Given the description of an element on the screen output the (x, y) to click on. 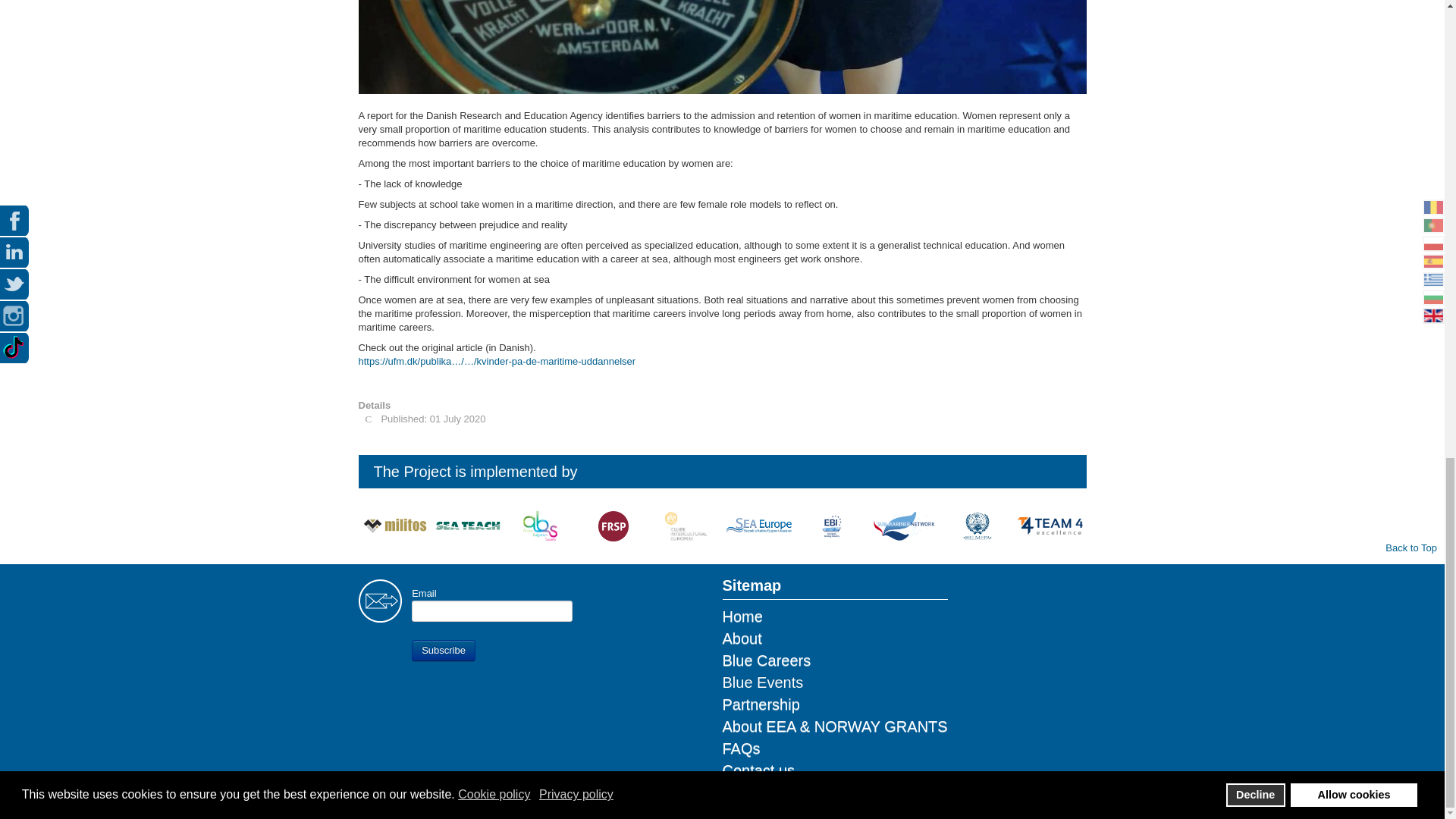
Back to Top (1411, 547)
Home (835, 616)
Subscribe (444, 649)
